Given the description of an element on the screen output the (x, y) to click on. 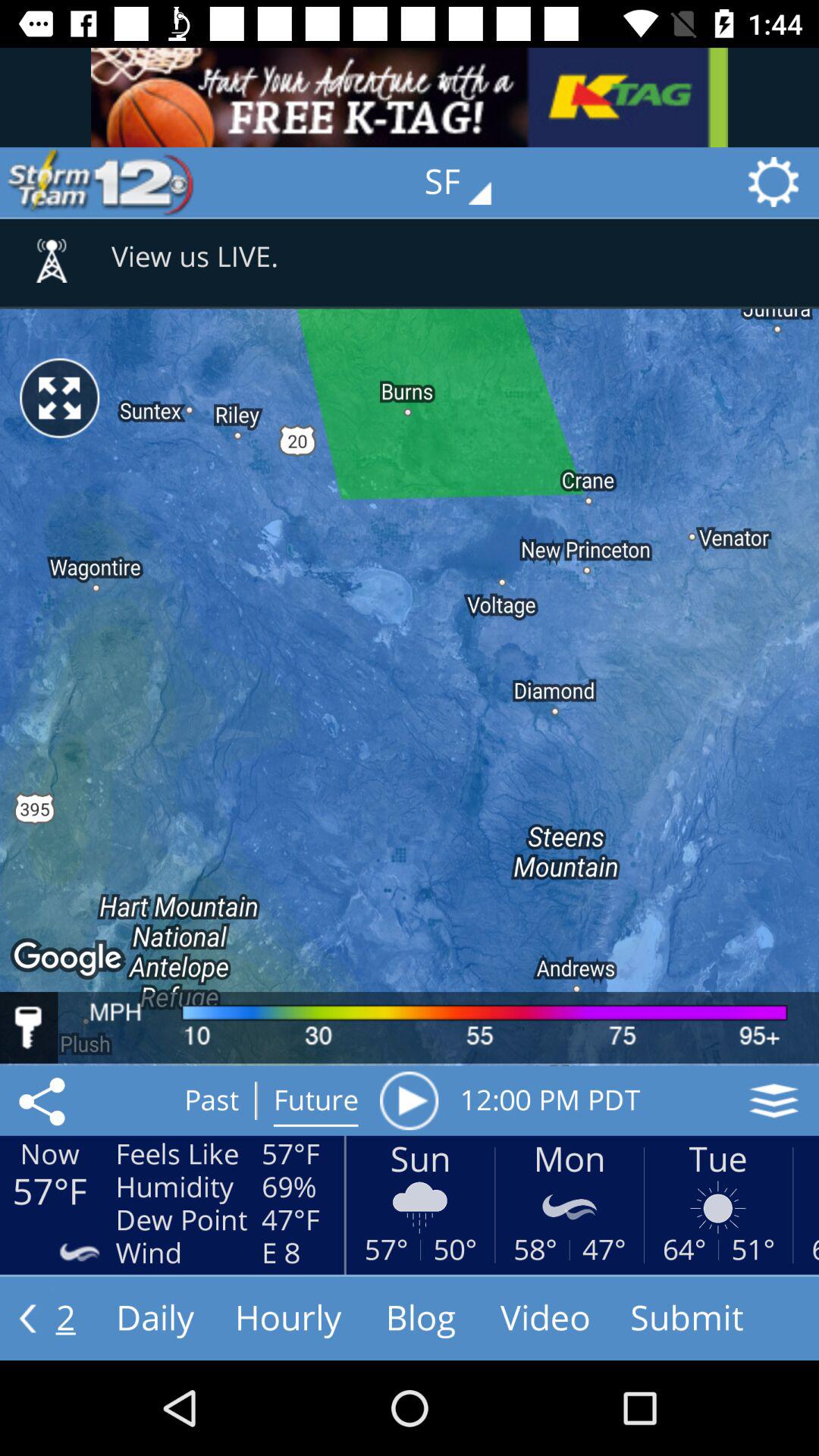
turn on the icon next to future icon (409, 1100)
